Given the description of an element on the screen output the (x, y) to click on. 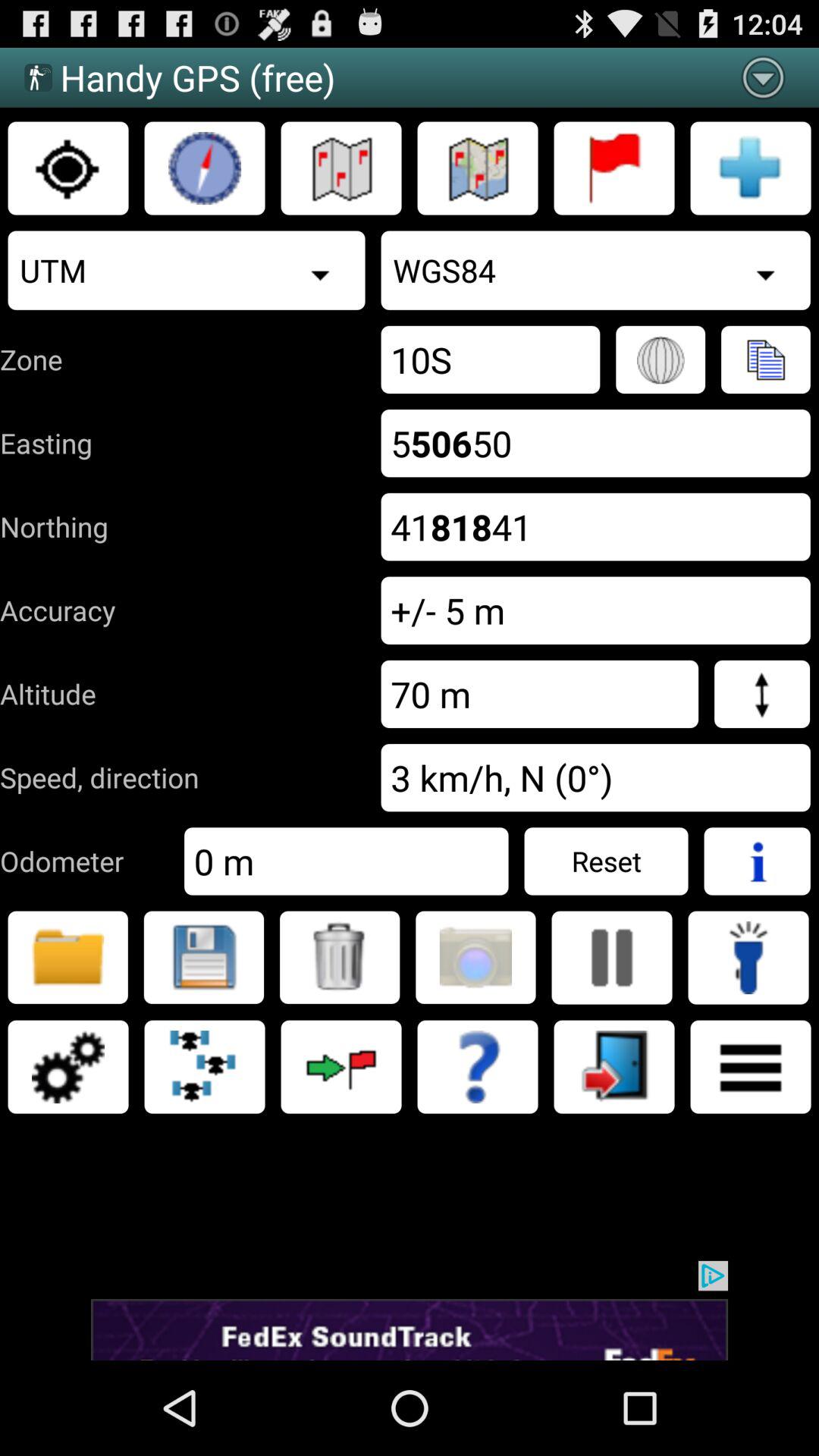
click to go to map (341, 167)
